Given the description of an element on the screen output the (x, y) to click on. 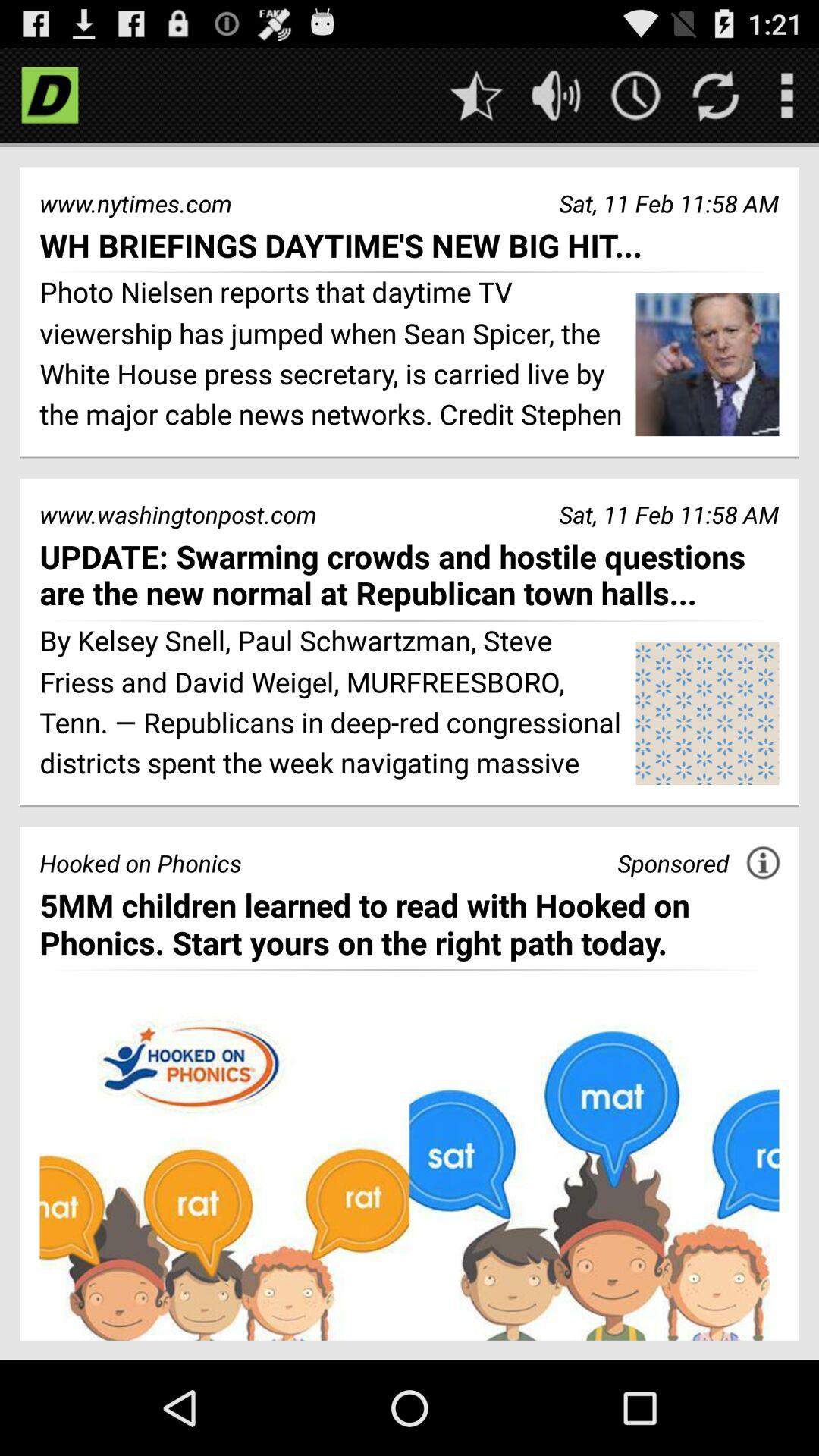
click for information (763, 862)
